Given the description of an element on the screen output the (x, y) to click on. 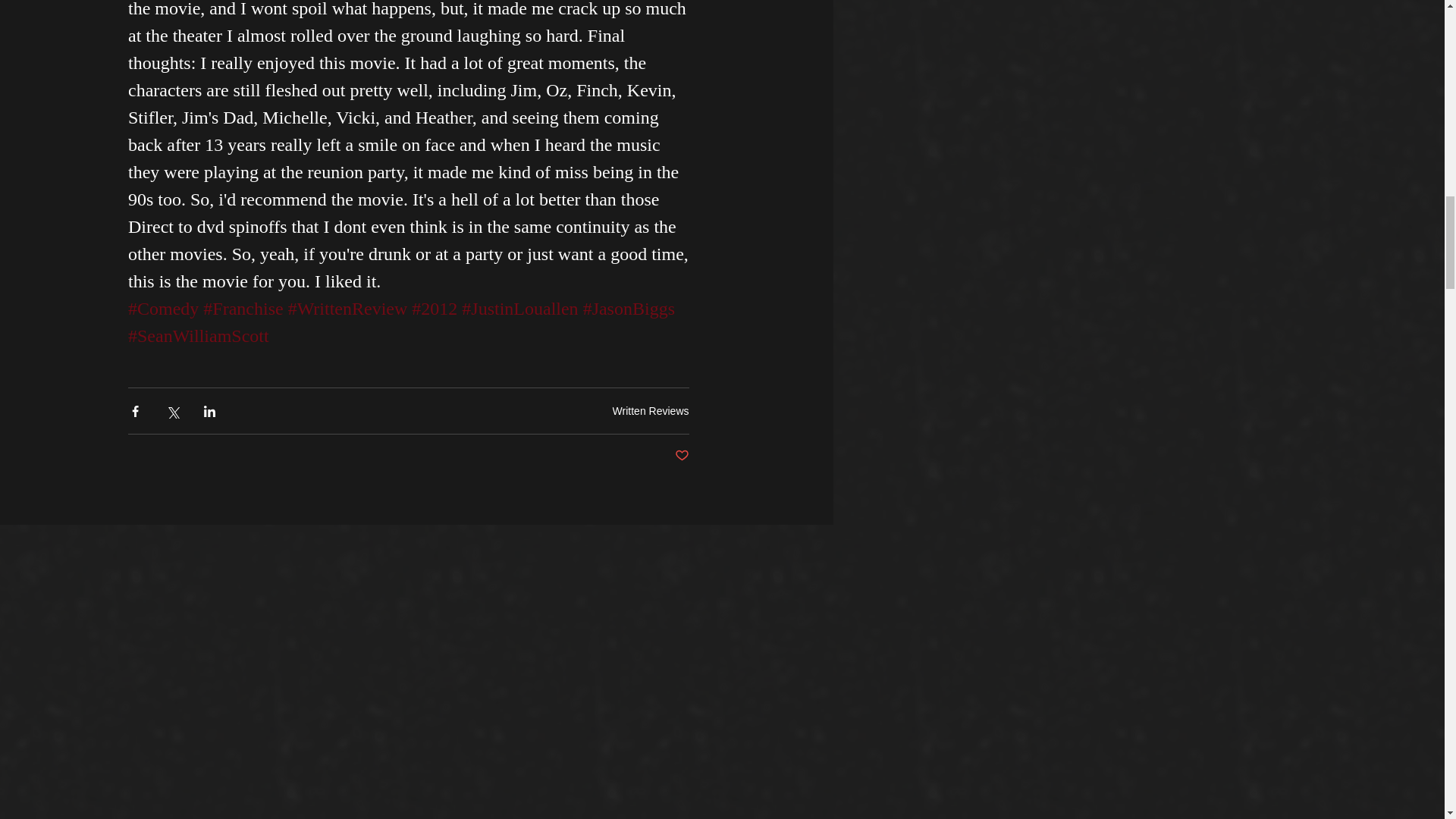
Written Reviews (650, 410)
Post not marked as liked (681, 455)
